Given the description of an element on the screen output the (x, y) to click on. 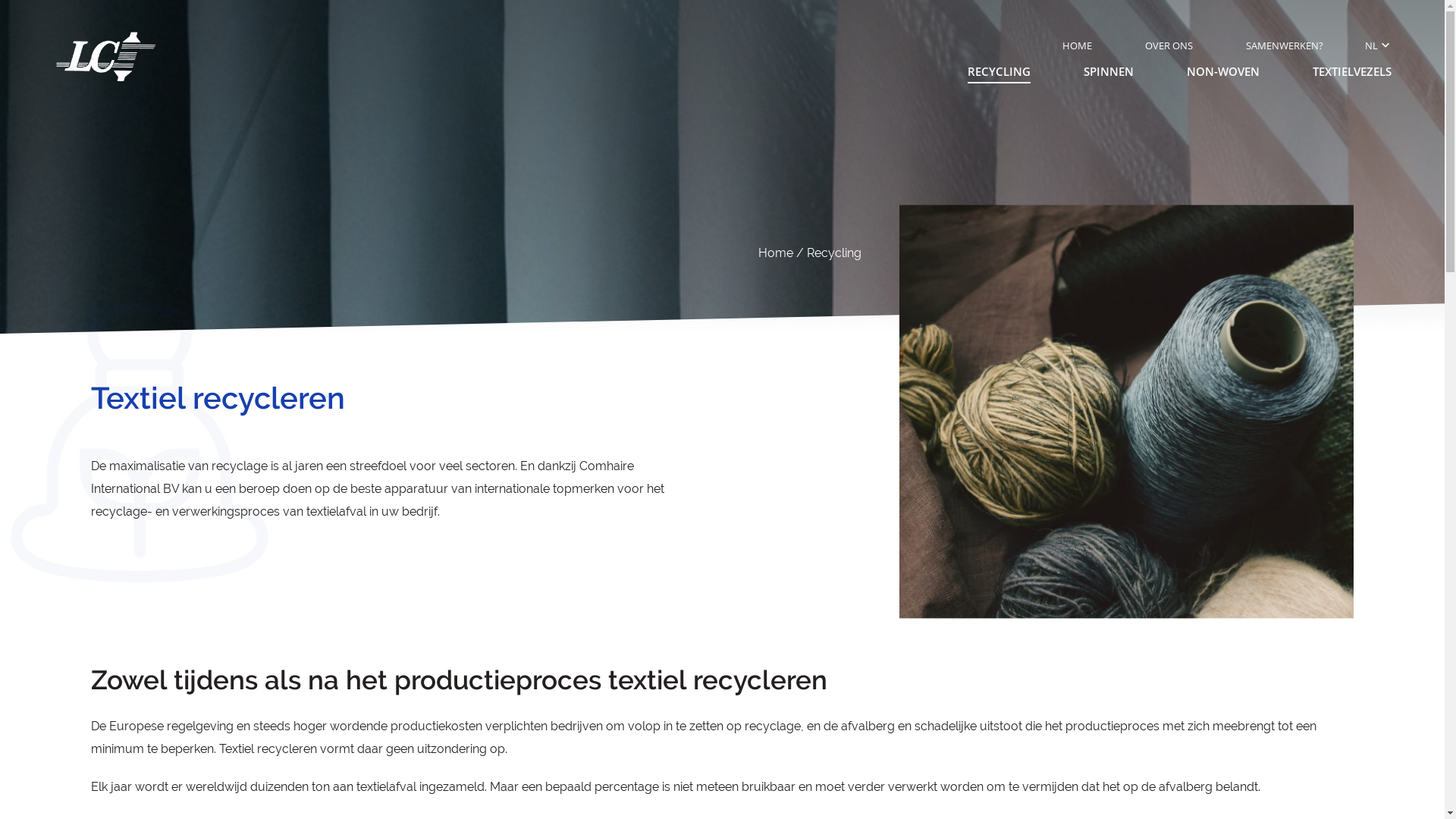
TEXTIELVEZELS Element type: text (1351, 73)
Logo_white Element type: hover (106, 56)
RECYCLING Element type: text (998, 73)
NON-WOVEN Element type: text (1222, 73)
HOME Element type: text (1077, 47)
SAMENWERKEN? Element type: text (1284, 47)
Home Element type: text (775, 252)
SPINNEN Element type: text (1108, 73)
OVER ONS Element type: text (1168, 47)
